Given the description of an element on the screen output the (x, y) to click on. 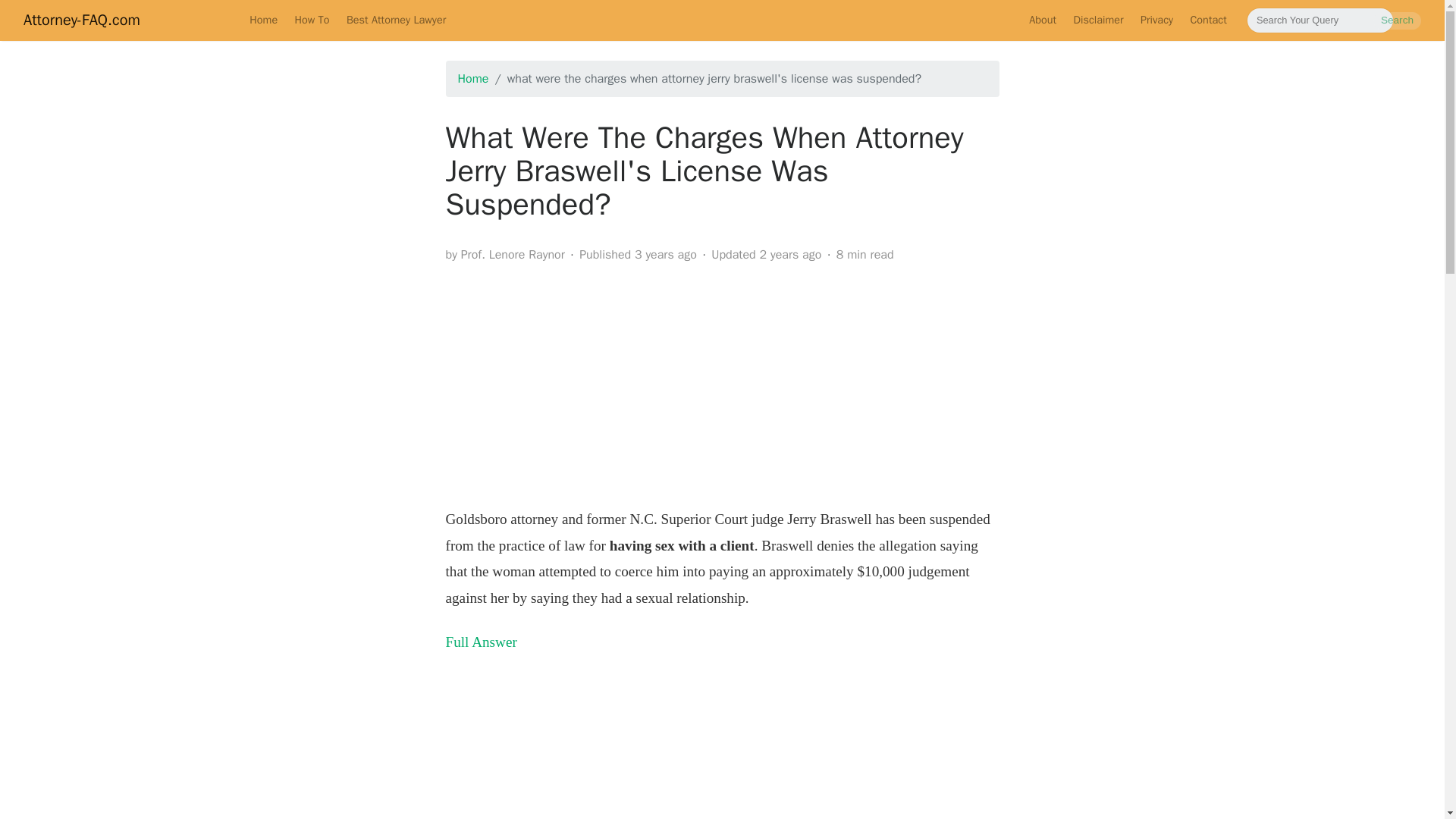
Advertisement (721, 750)
Best Attorney Lawyer (395, 20)
Full Answer (480, 641)
Home (263, 20)
Advertisement (721, 382)
Disclaimer (1097, 20)
Privacy (1157, 20)
About (1042, 20)
Contact (1207, 20)
Search (1397, 20)
Attorney-FAQ.com (81, 20)
Home (473, 78)
How To (311, 20)
